Given the description of an element on the screen output the (x, y) to click on. 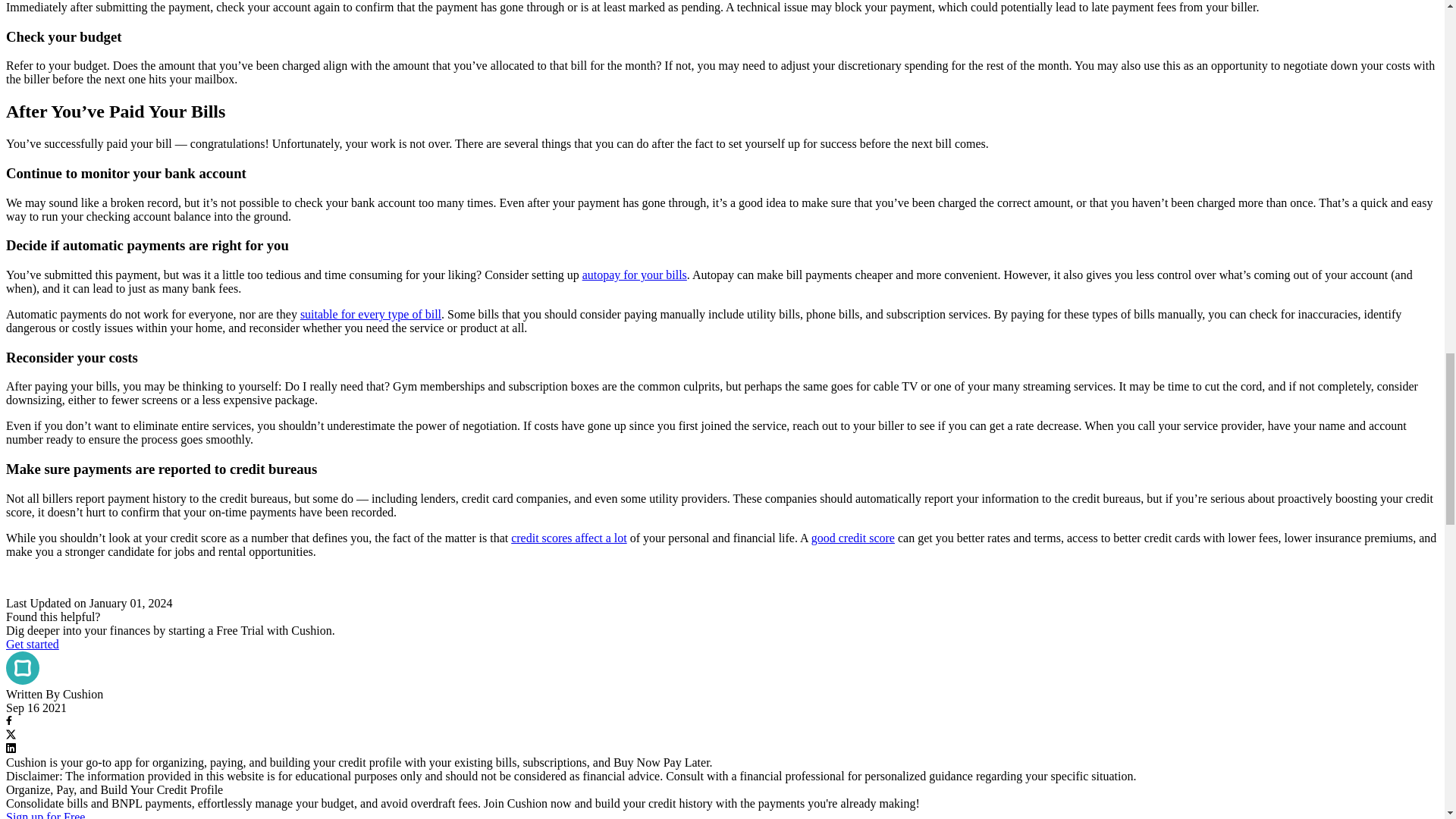
good credit score (852, 537)
suitable for every type of bill (370, 314)
Get started (32, 644)
autopay for your bills (634, 274)
credit scores affect a lot (569, 537)
Sign up for Free (44, 814)
